Given the description of an element on the screen output the (x, y) to click on. 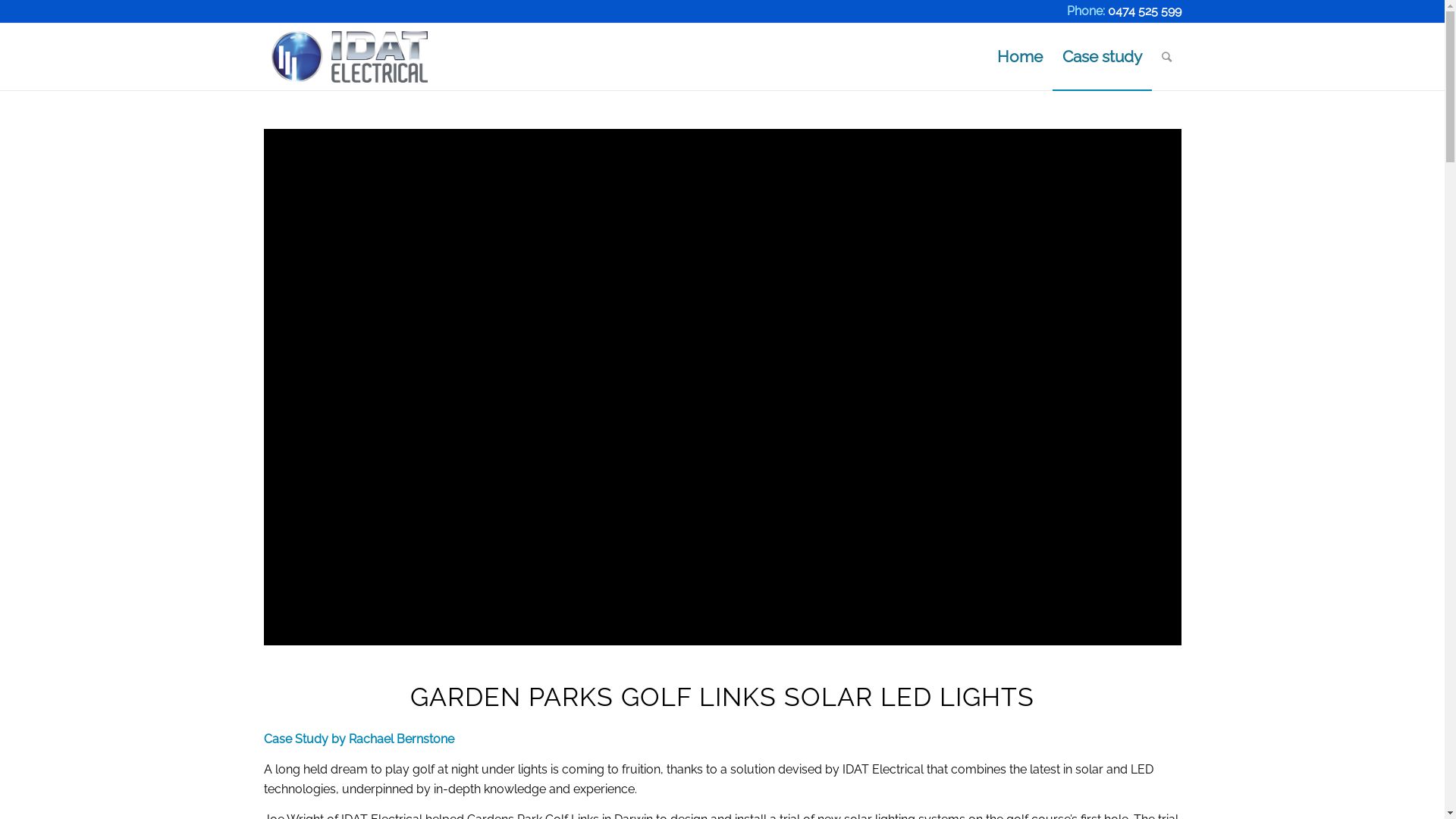
0474 525 599 Element type: text (1143, 10)
Case study Element type: text (1101, 56)
Home Element type: text (1019, 56)
